Given the description of an element on the screen output the (x, y) to click on. 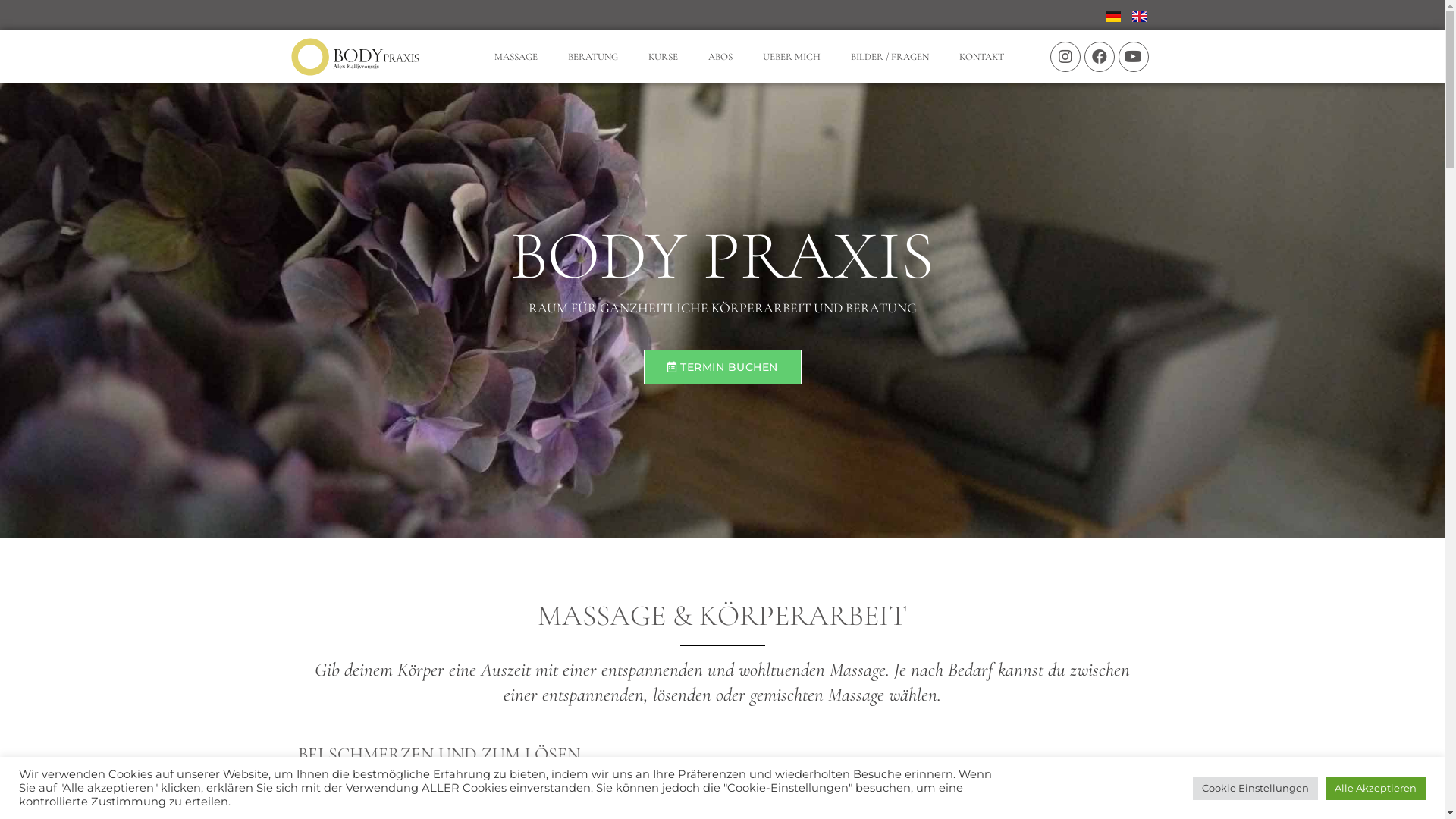
Alle Akzeptieren Element type: text (1375, 788)
MASSAGE Element type: text (515, 56)
KONTAKT Element type: text (981, 56)
BILDER / FRAGEN Element type: text (889, 56)
KURSE Element type: text (663, 56)
ABOS Element type: text (720, 56)
TERMIN BUCHEN Element type: text (721, 366)
BERATUNG Element type: text (592, 56)
Cookie Einstellungen Element type: text (1254, 788)
UEBER MICH Element type: text (791, 56)
